Given the description of an element on the screen output the (x, y) to click on. 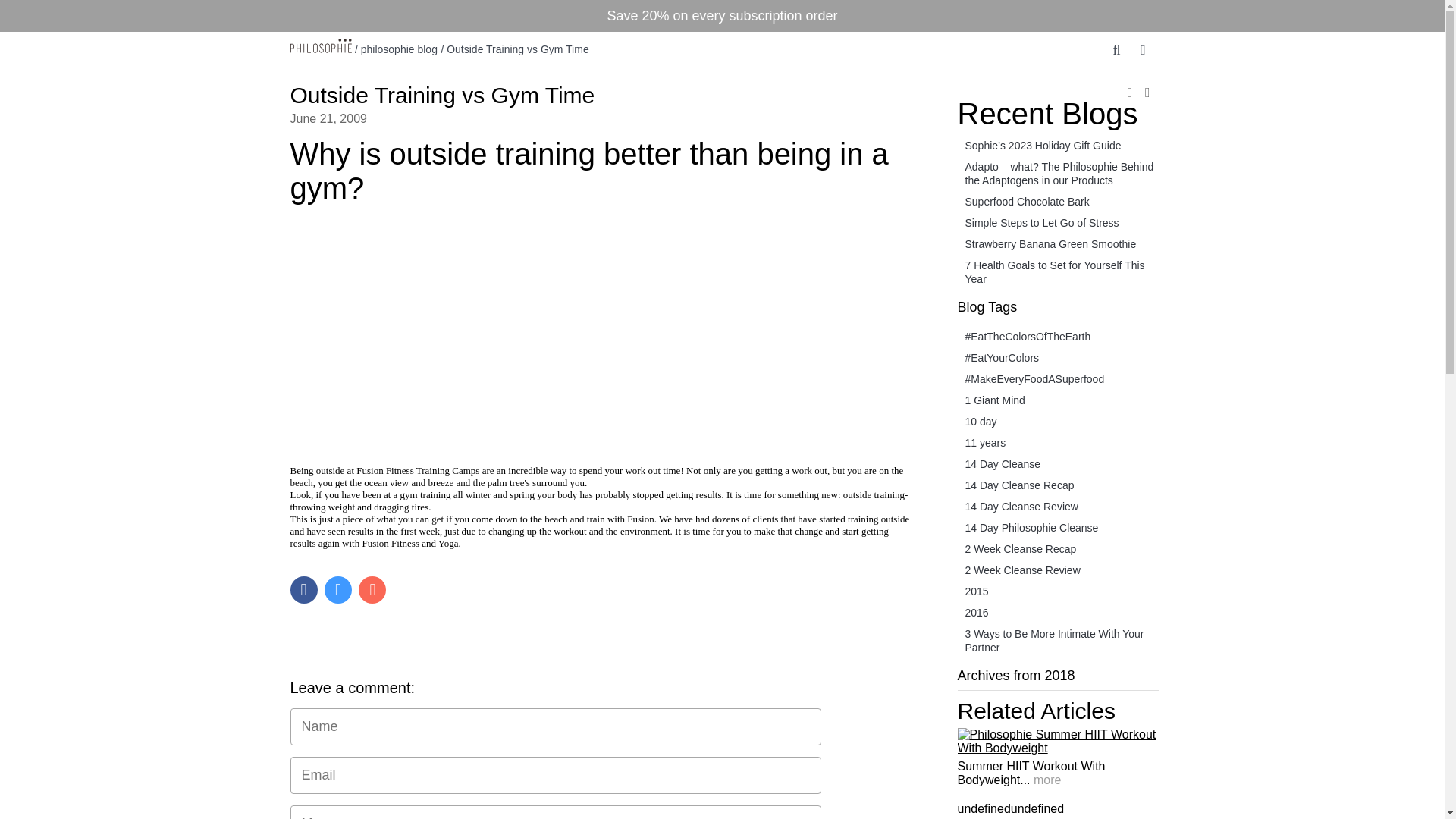
Share on Twitter (338, 589)
Outside Training vs Gym Time (441, 94)
philosophie blog (399, 49)
Share on Facebook (303, 589)
